Given the description of an element on the screen output the (x, y) to click on. 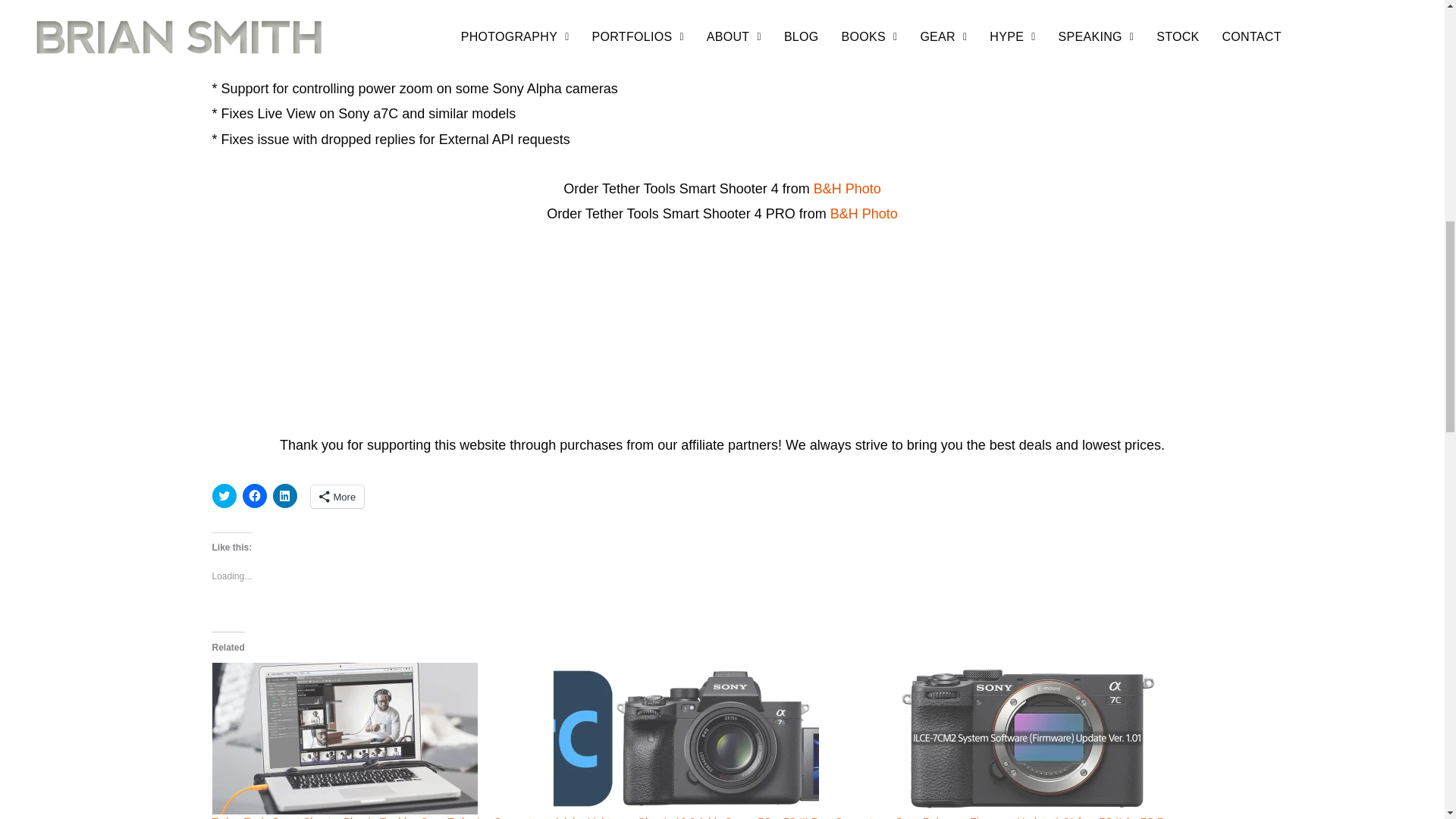
Click to share on Facebook (254, 495)
Click to share on LinkedIn (285, 495)
Click to share on Twitter (223, 495)
